Given the description of an element on the screen output the (x, y) to click on. 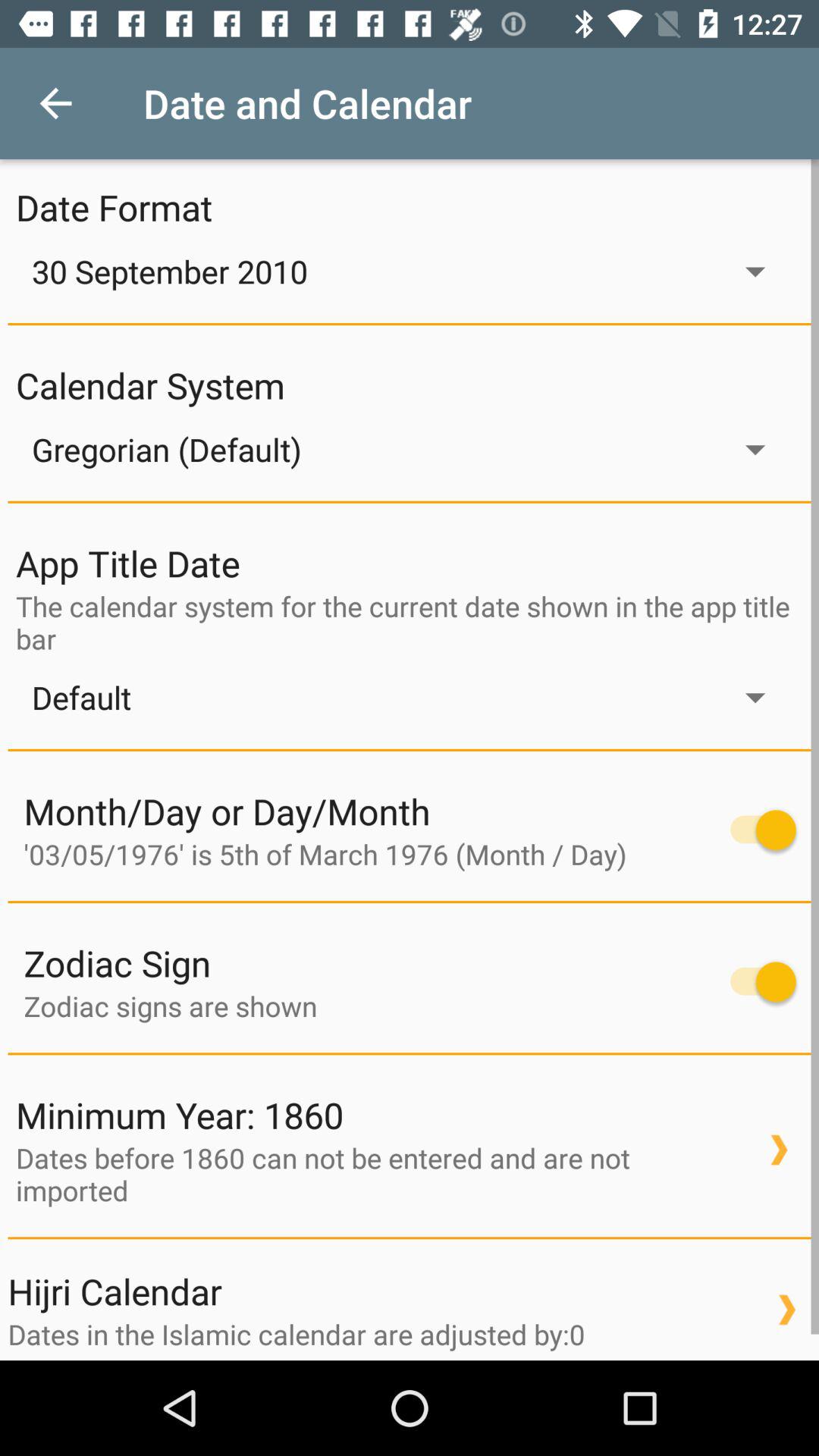
autoplay button (755, 830)
